Given the description of an element on the screen output the (x, y) to click on. 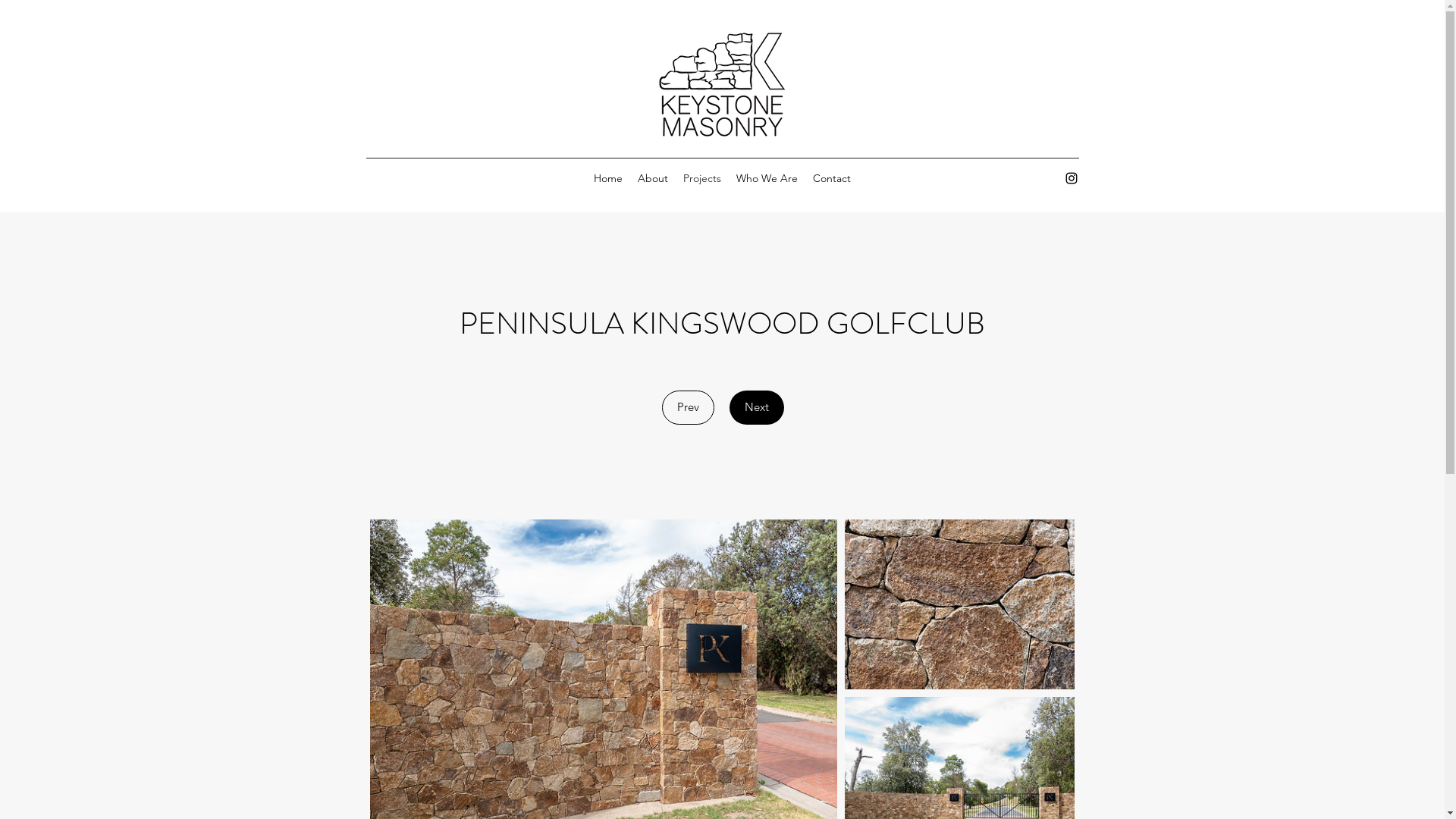
Prev Element type: text (687, 407)
Who We Are Element type: text (766, 177)
Projects Element type: text (701, 177)
Contact Element type: text (831, 177)
About Element type: text (652, 177)
Home Element type: text (608, 177)
Next Element type: text (756, 407)
